Given the description of an element on the screen output the (x, y) to click on. 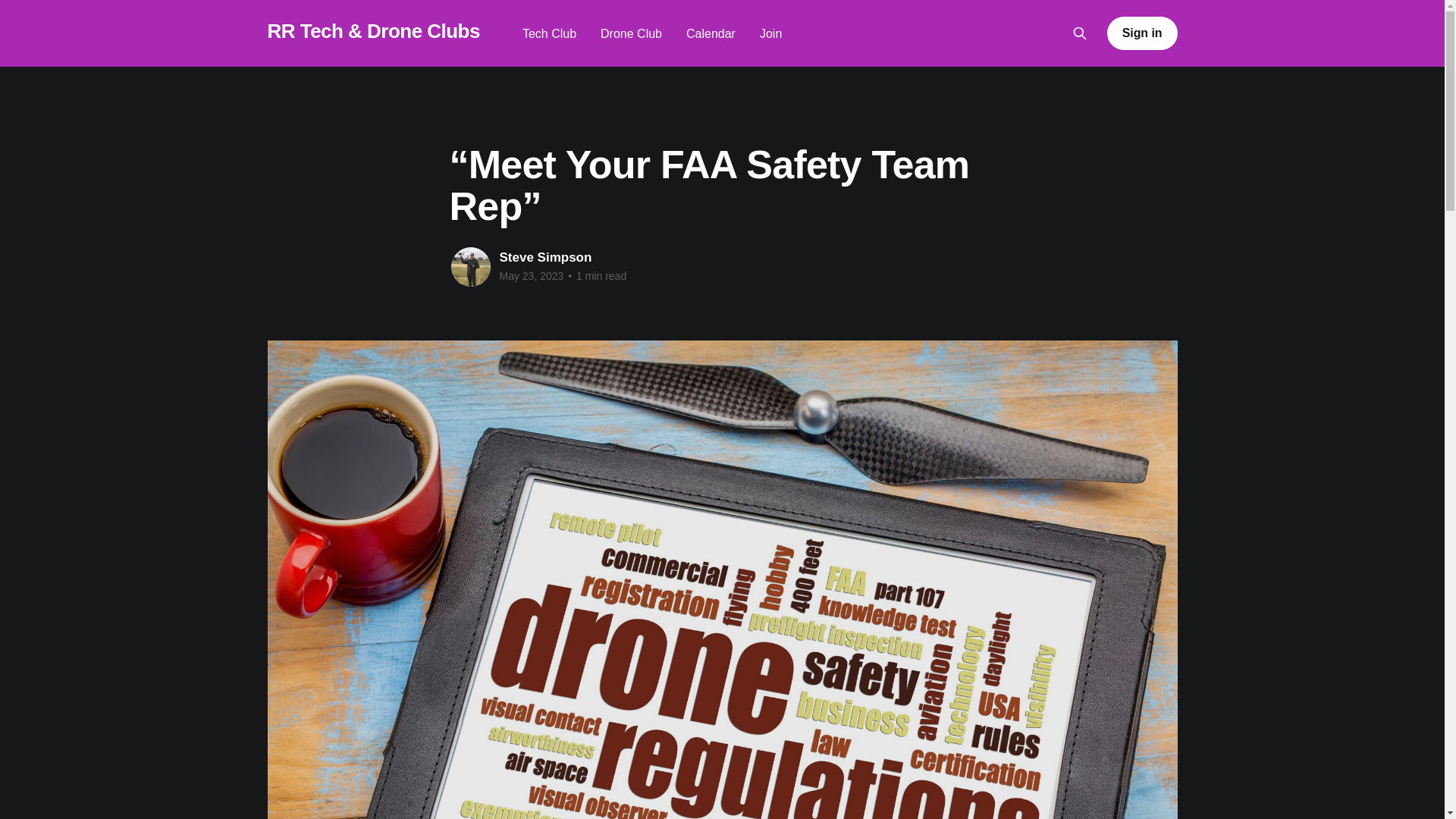
Drone Club (630, 33)
Steve Simpson (545, 257)
Join (770, 33)
Tech Club (549, 33)
Sign in (1141, 32)
Calendar (710, 33)
